Given the description of an element on the screen output the (x, y) to click on. 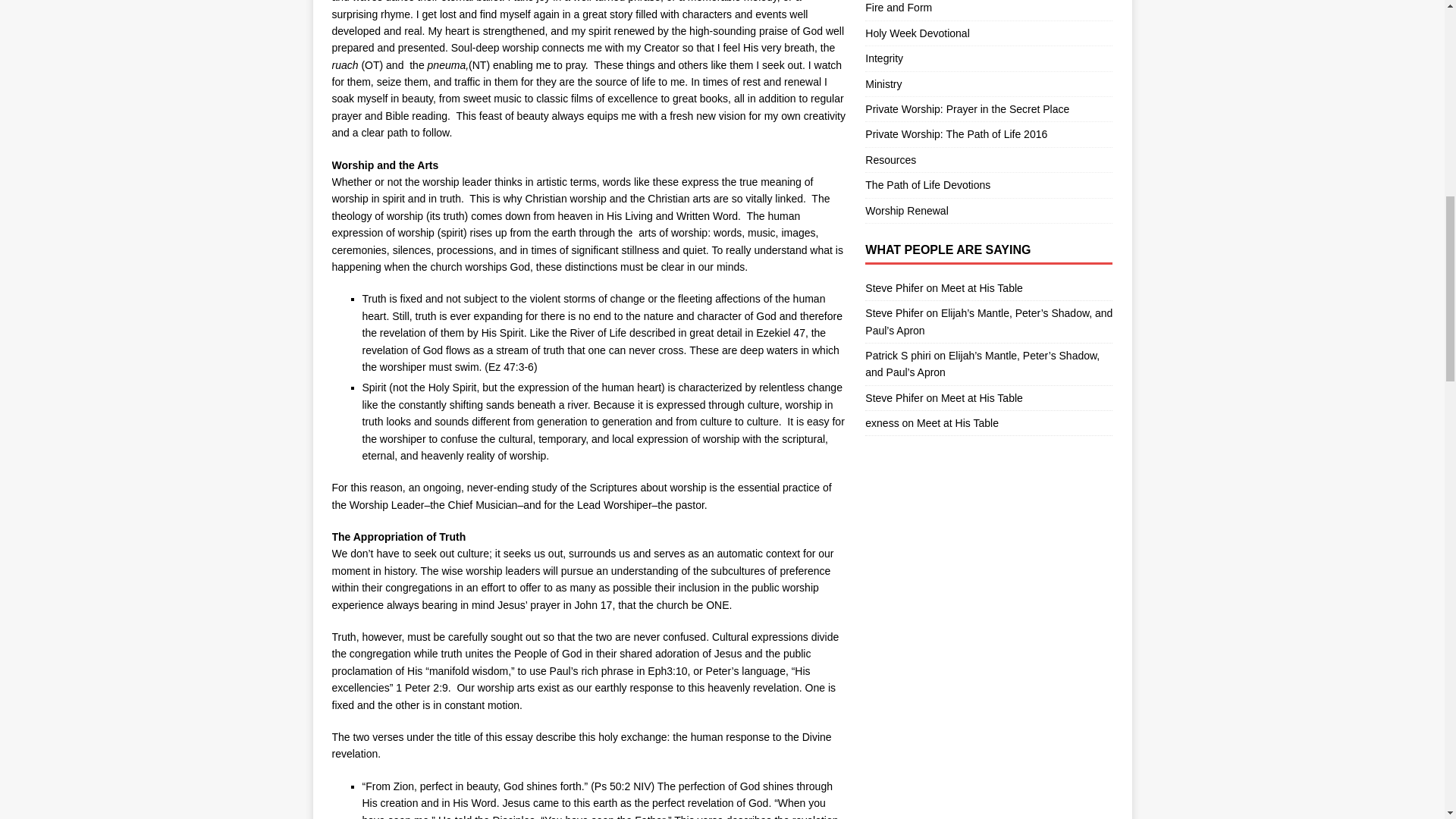
Holy Week Devotional (988, 33)
Fire and Form (988, 9)
Integrity (988, 57)
